Given the description of an element on the screen output the (x, y) to click on. 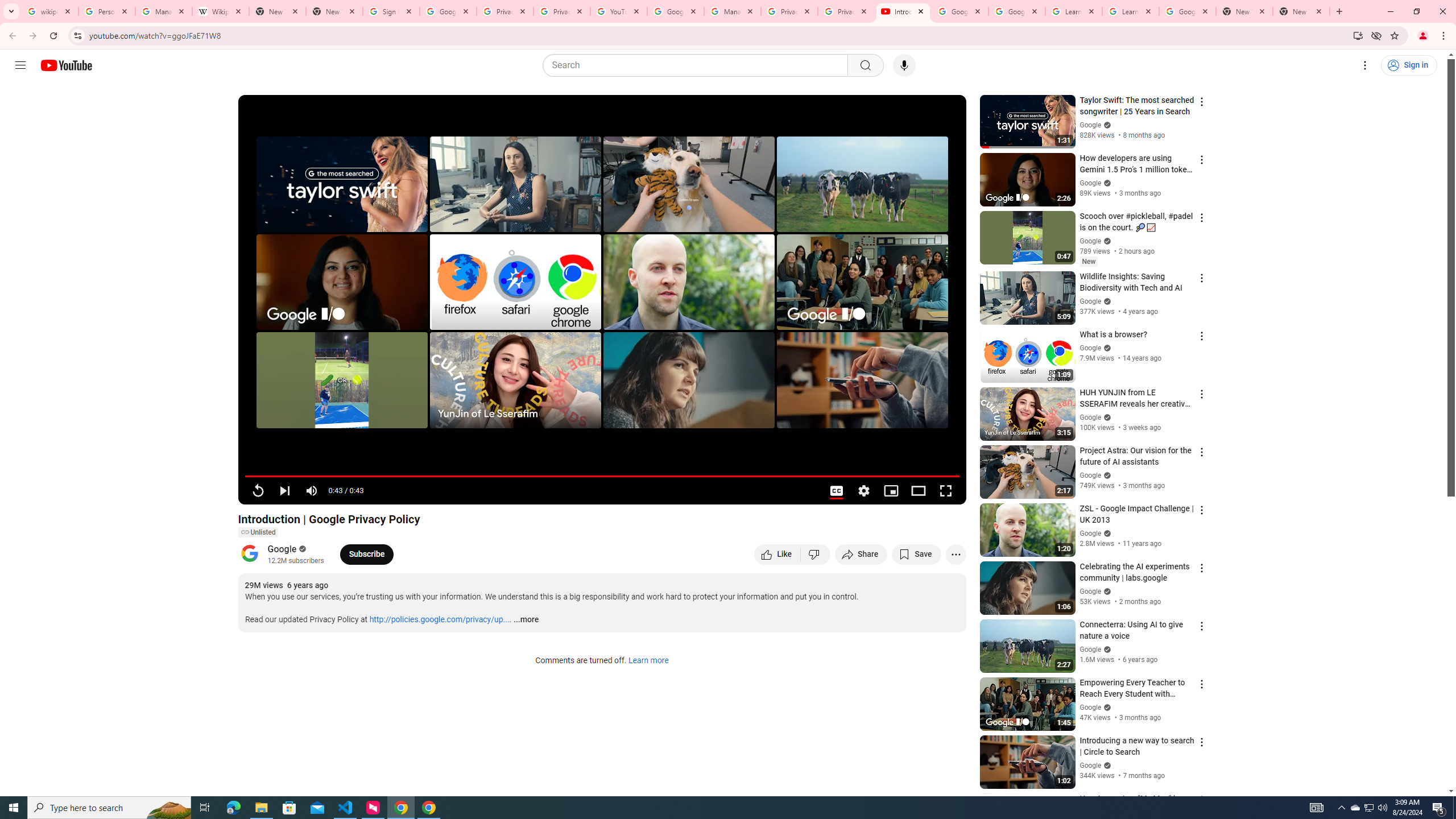
Personalization & Google Search results - Google Search Help (105, 11)
Save to playlist (915, 554)
Verified (1106, 764)
Search (697, 65)
Google Account (1187, 11)
Settings (1365, 65)
Share (861, 554)
